Given the description of an element on the screen output the (x, y) to click on. 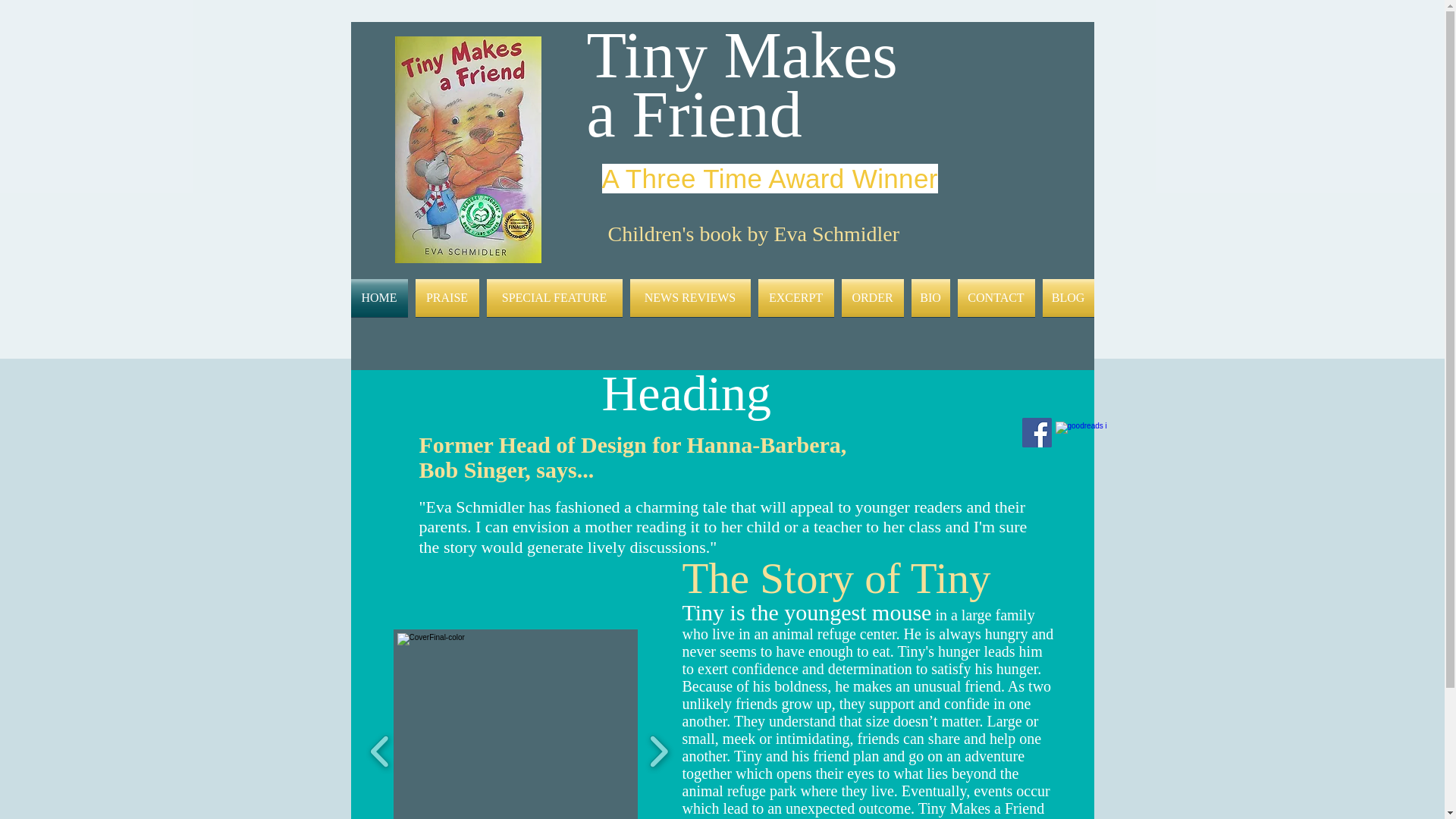
Children's book by Eva Schmidler (753, 233)
BIO (930, 297)
ORDER (872, 297)
a Friend (694, 113)
CONTACT (996, 297)
PRAISE (445, 297)
BLOG (1066, 297)
Tiny Makes (742, 54)
EXCERPT (795, 297)
SPECIAL FEATURE (553, 297)
